Given the description of an element on the screen output the (x, y) to click on. 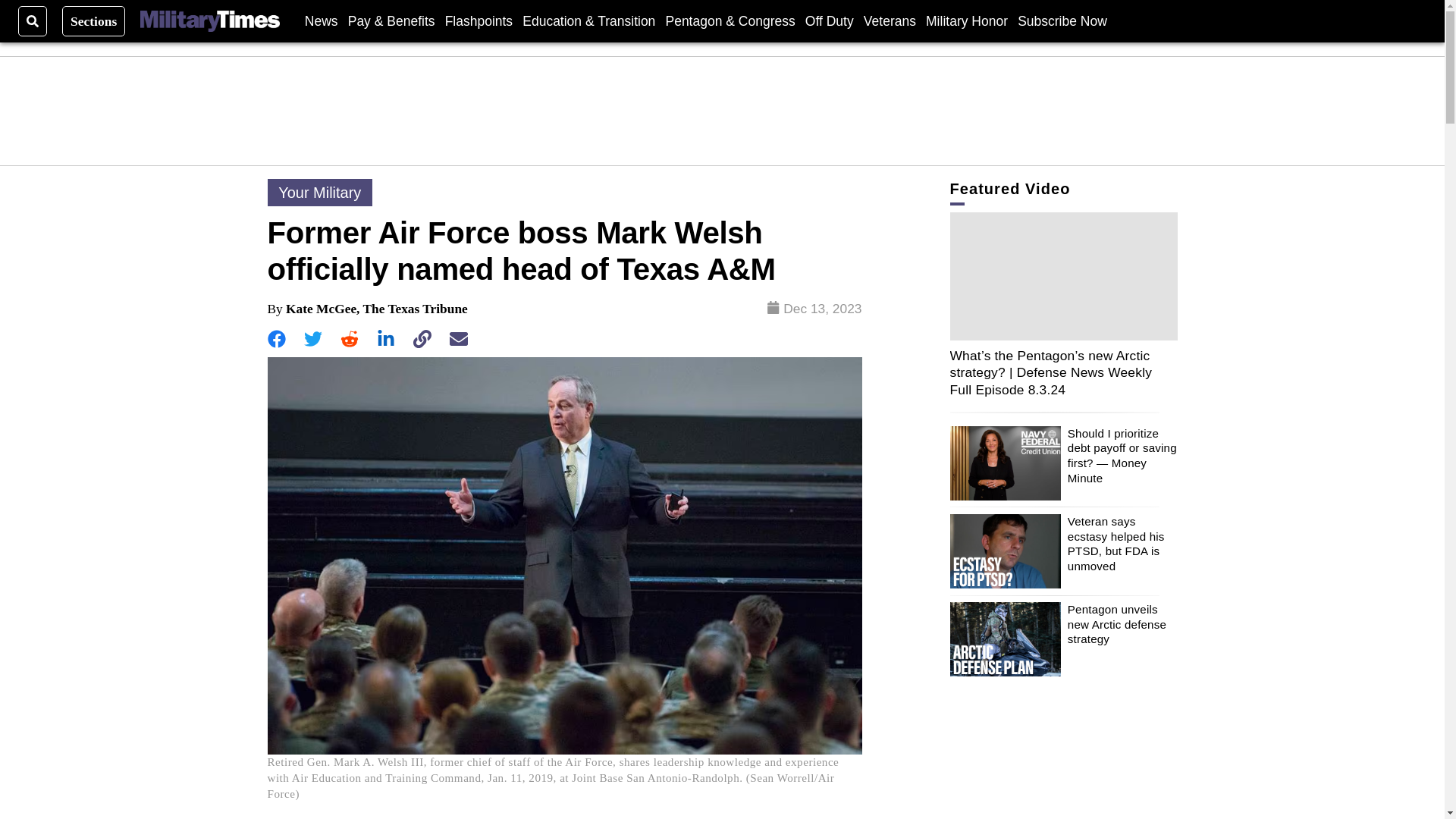
Military Times Logo (209, 20)
News (320, 20)
Military Honor (966, 20)
Off Duty (829, 20)
Veterans (889, 20)
Flashpoints (479, 20)
Sections (93, 20)
